Given the description of an element on the screen output the (x, y) to click on. 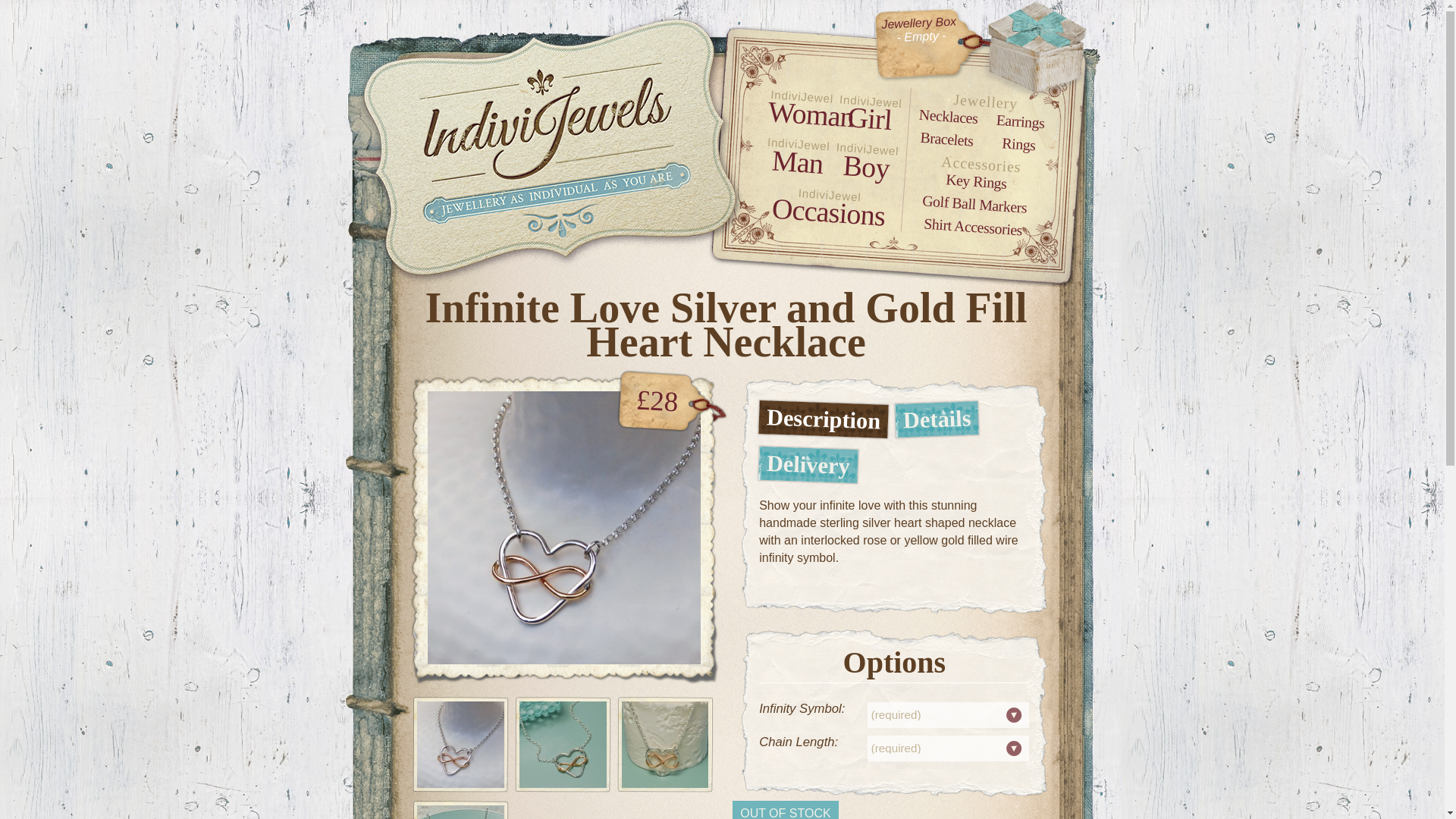
Rings (1017, 141)
Golf Ball Markers (973, 199)
Occasions (827, 207)
Necklaces (947, 113)
Boy (865, 164)
Bracelets (945, 136)
Woman (799, 111)
Key Rings (975, 176)
Girl (868, 116)
Shirt Accessories (972, 221)
Man (795, 159)
Earrings (1018, 118)
